Given the description of an element on the screen output the (x, y) to click on. 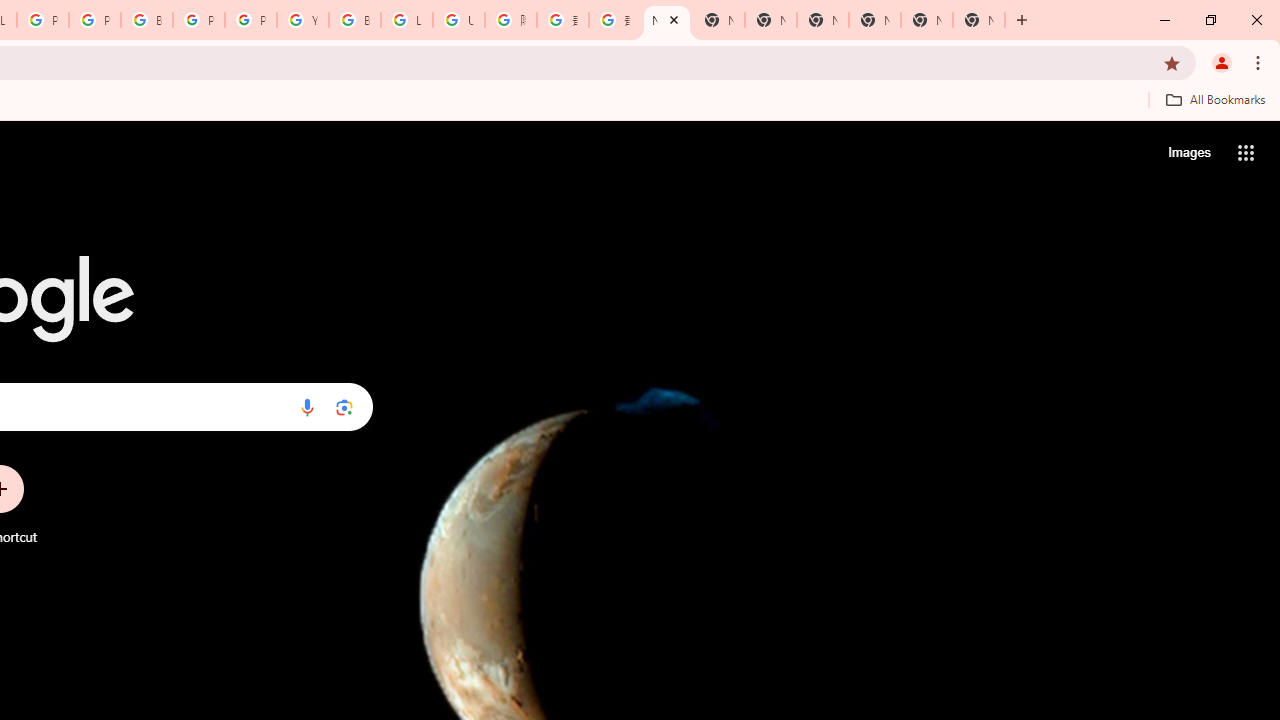
New Tab (666, 20)
New Tab (978, 20)
Privacy Help Center - Policies Help (95, 20)
